Given the description of an element on the screen output the (x, y) to click on. 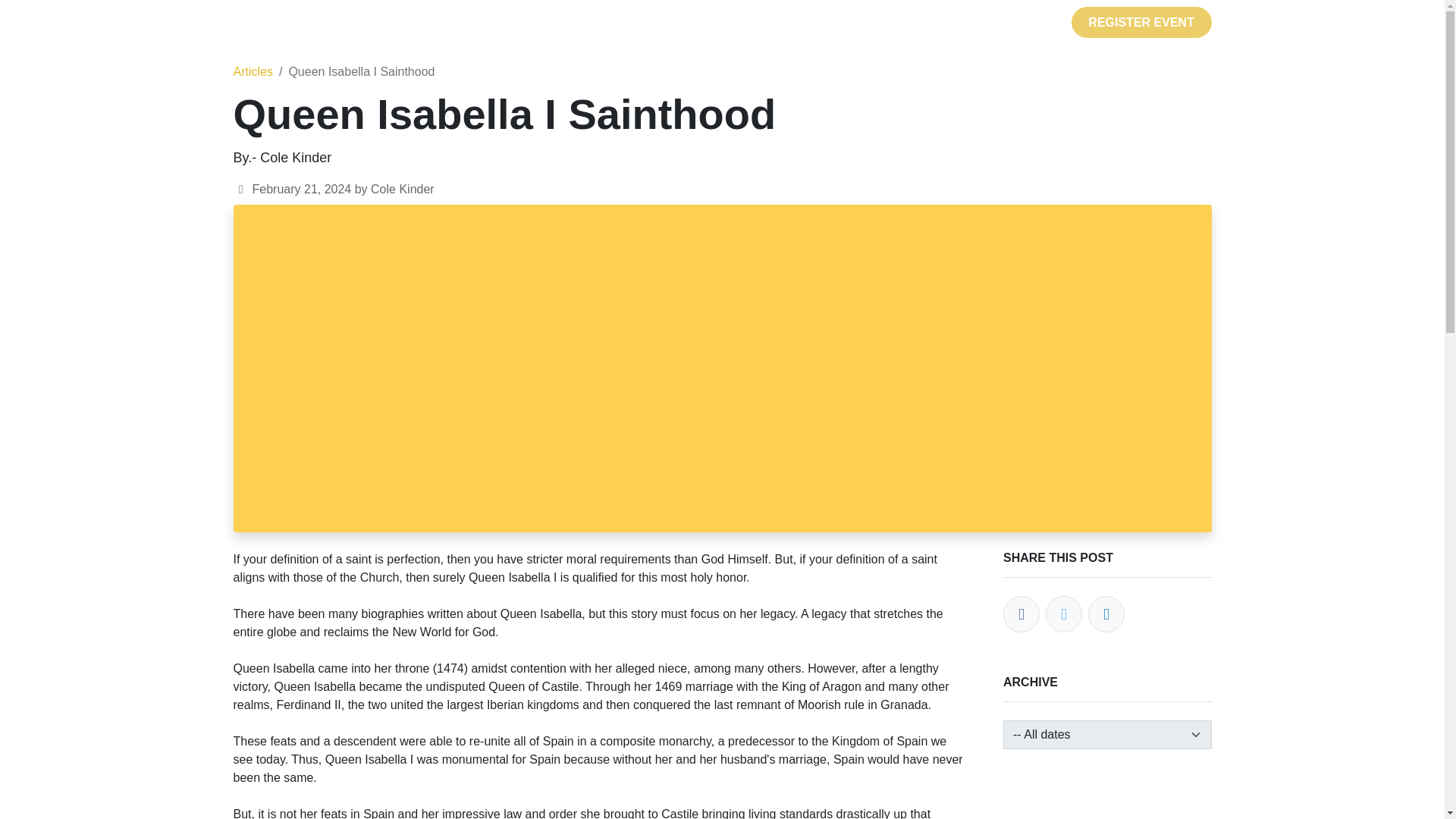
Share on LinkedIn (1105, 614)
Articles (252, 71)
REGISTER EVENT (1141, 21)
Share on Twitter (1063, 614)
Share on Facebook (1021, 614)
